Given the description of an element on the screen output the (x, y) to click on. 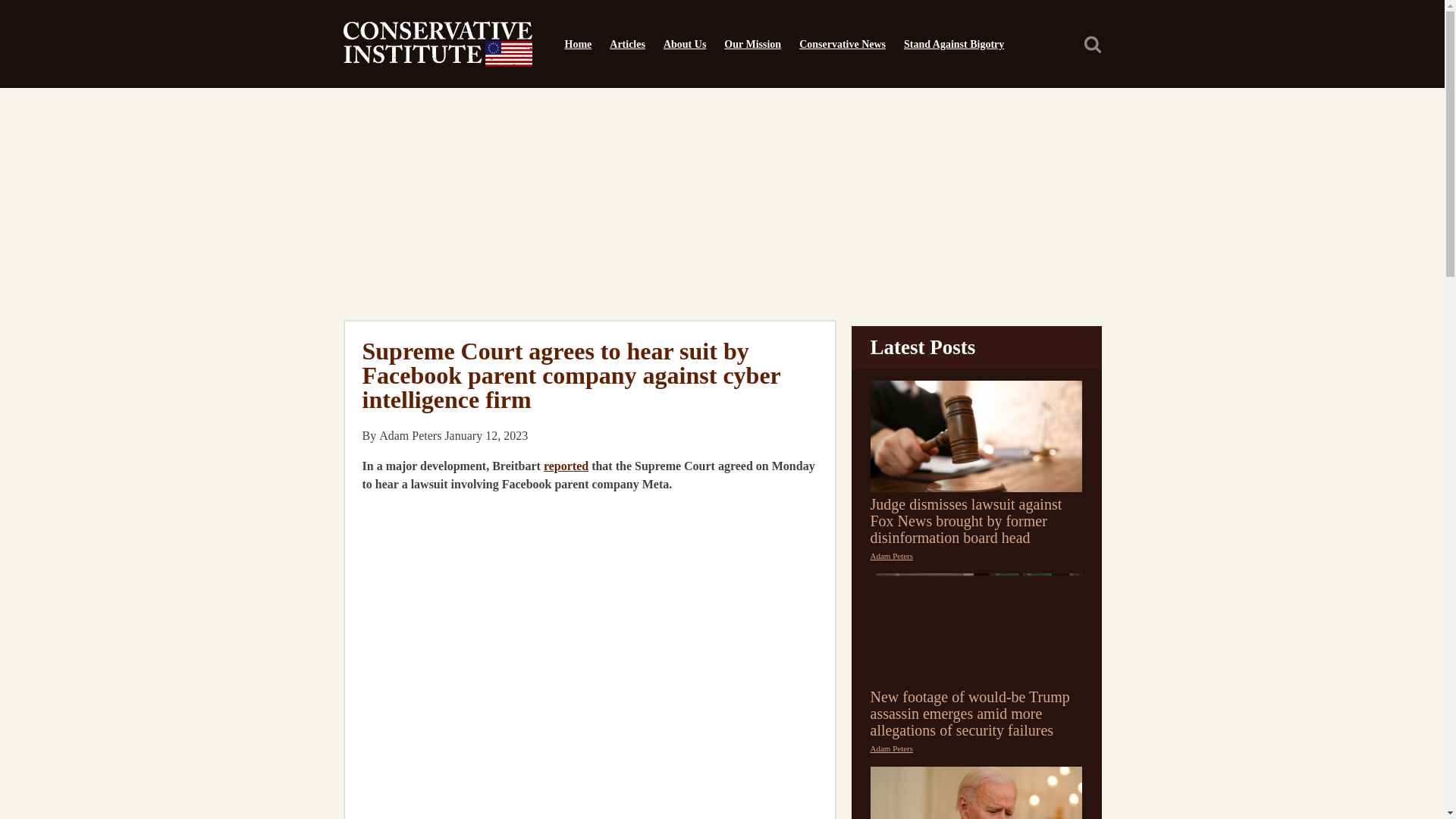
reported (565, 465)
Articles (626, 44)
Adam Peters (892, 555)
Adam Peters (409, 435)
Our Mission (752, 44)
About Us (683, 44)
Home (576, 44)
Adam Peters (892, 748)
Stand Against Bigotry (954, 44)
Conservative News (842, 44)
